Given the description of an element on the screen output the (x, y) to click on. 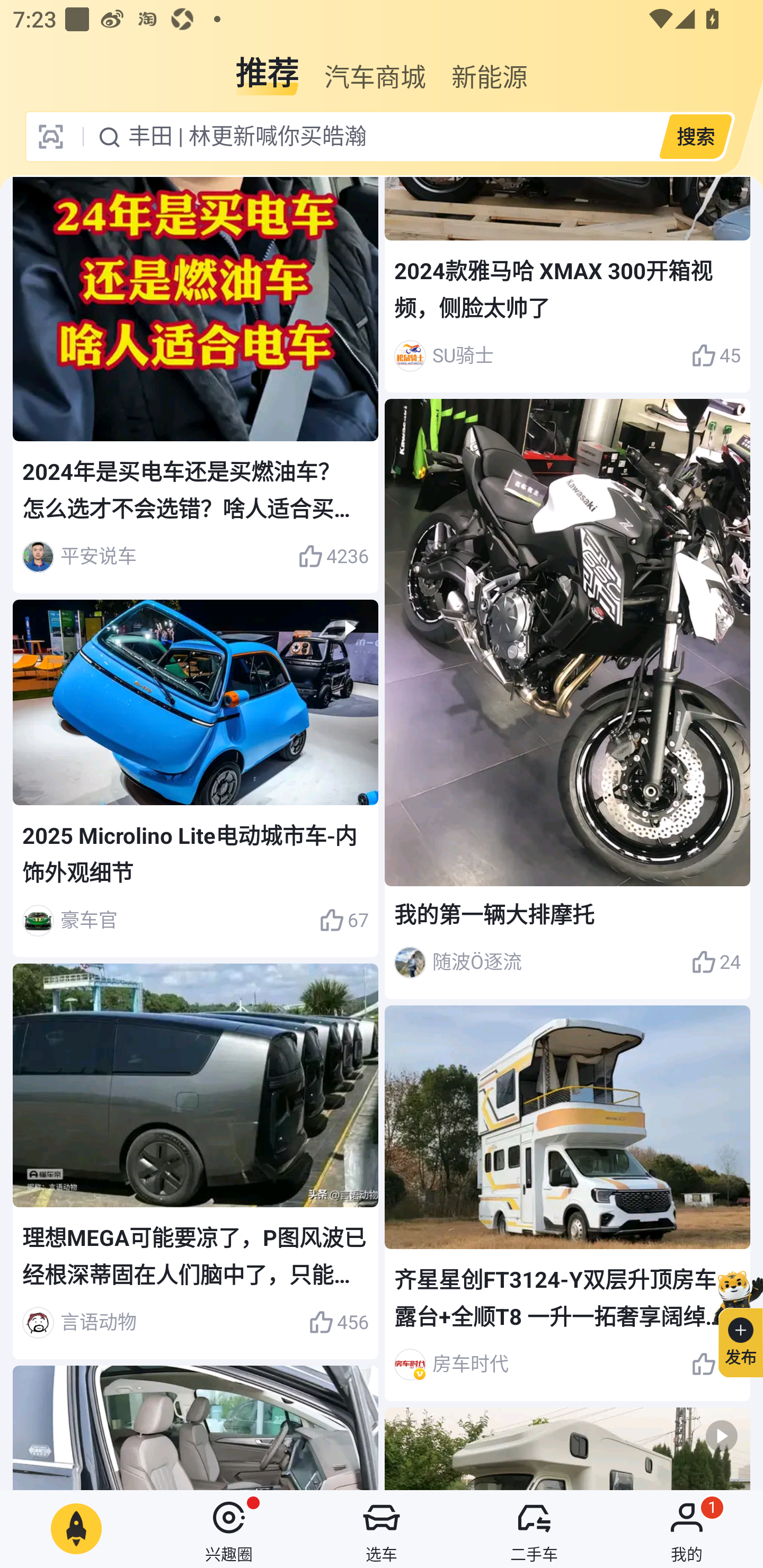
推荐 (267, 65)
汽车商城 (374, 65)
新能源 (489, 65)
搜索 (695, 136)
2024款雅马哈 XMAX 300开箱视频，侧脸太帅了 SU骑士 45 (567, 284)
45 (715, 355)
我的第一辆大排摩托 随波Ö逐流 24 (567, 698)
4236 (332, 556)
 2025 Microlino Lite电动城市车-内饰外观细节 豪车官 67 (195, 777)
67 (343, 919)
24 (715, 962)
齐星星创FT3124-Y双层升顶房车 露台+全顺T8 一升一拓奢享阔绰空间 房车时代 87 (567, 1203)
发布 (732, 1321)
456 (338, 1322)
87 (715, 1363)
 兴趣圈 (228, 1528)
 选车 (381, 1528)
 二手车 (533, 1528)
 我的 (686, 1528)
